Given the description of an element on the screen output the (x, y) to click on. 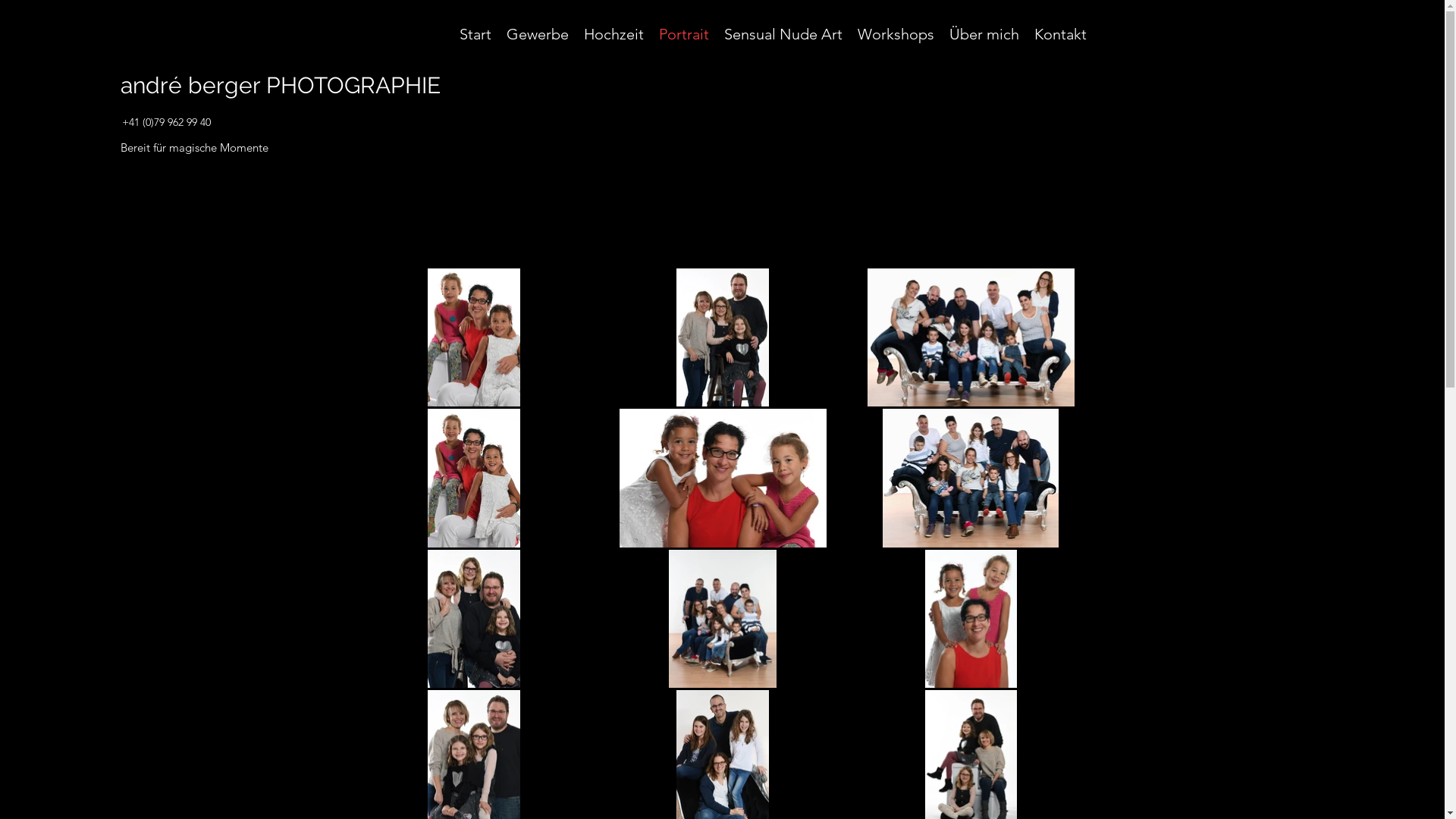
Workshops Element type: text (895, 33)
Hochzeit Element type: text (613, 33)
PHOTOGRAPHIE Element type: text (350, 85)
Start Element type: text (474, 33)
Kontakt Element type: text (1060, 33)
Gewerbe Element type: text (537, 33)
Sensual Nude Art Element type: text (782, 33)
Portrait Element type: text (682, 33)
